Given the description of an element on the screen output the (x, y) to click on. 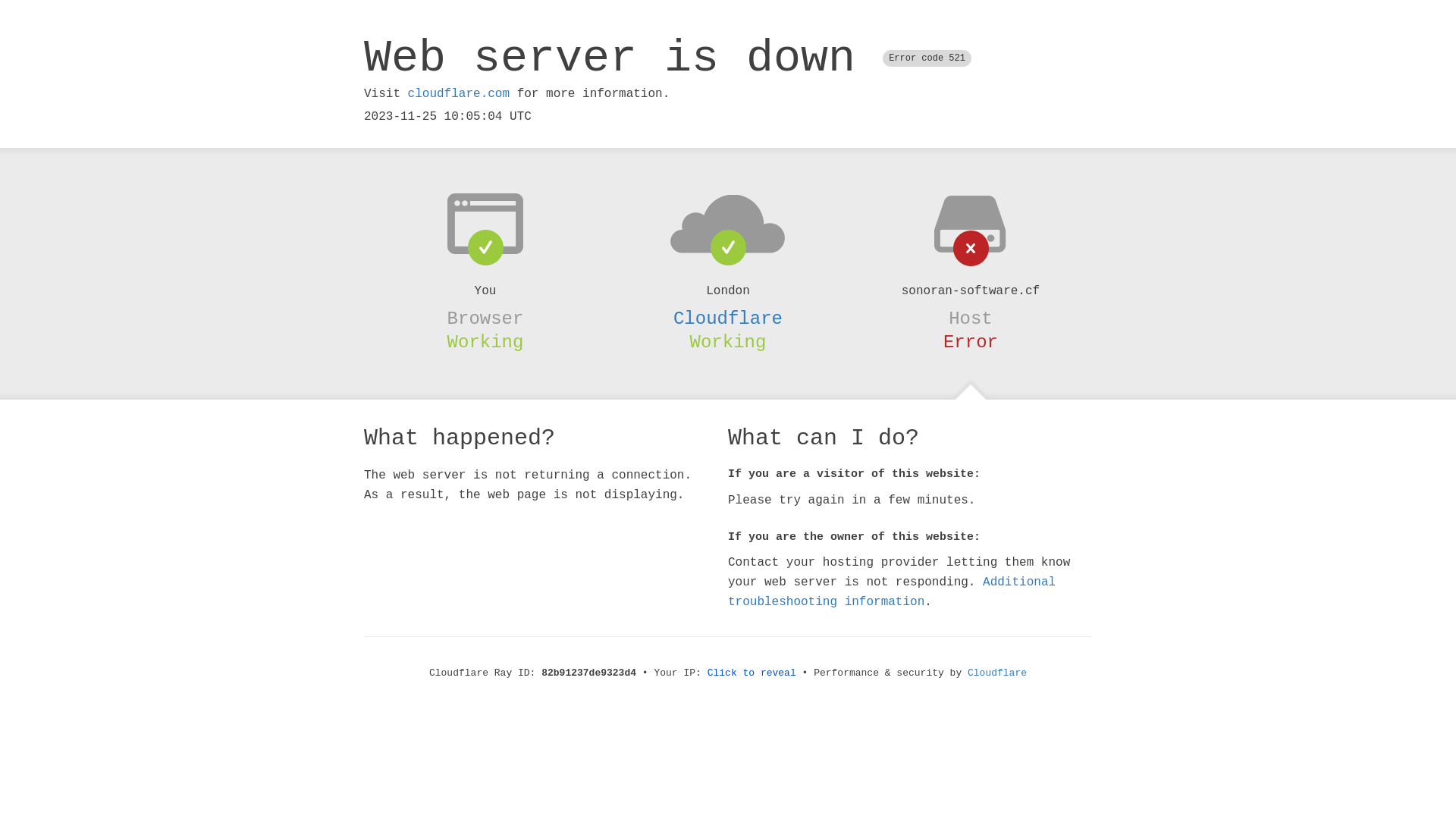
Additional troubleshooting information Element type: text (891, 591)
Cloudflare Element type: text (996, 672)
Click to reveal Element type: text (751, 672)
Cloudflare Element type: text (727, 318)
cloudflare.com Element type: text (458, 93)
